Given the description of an element on the screen output the (x, y) to click on. 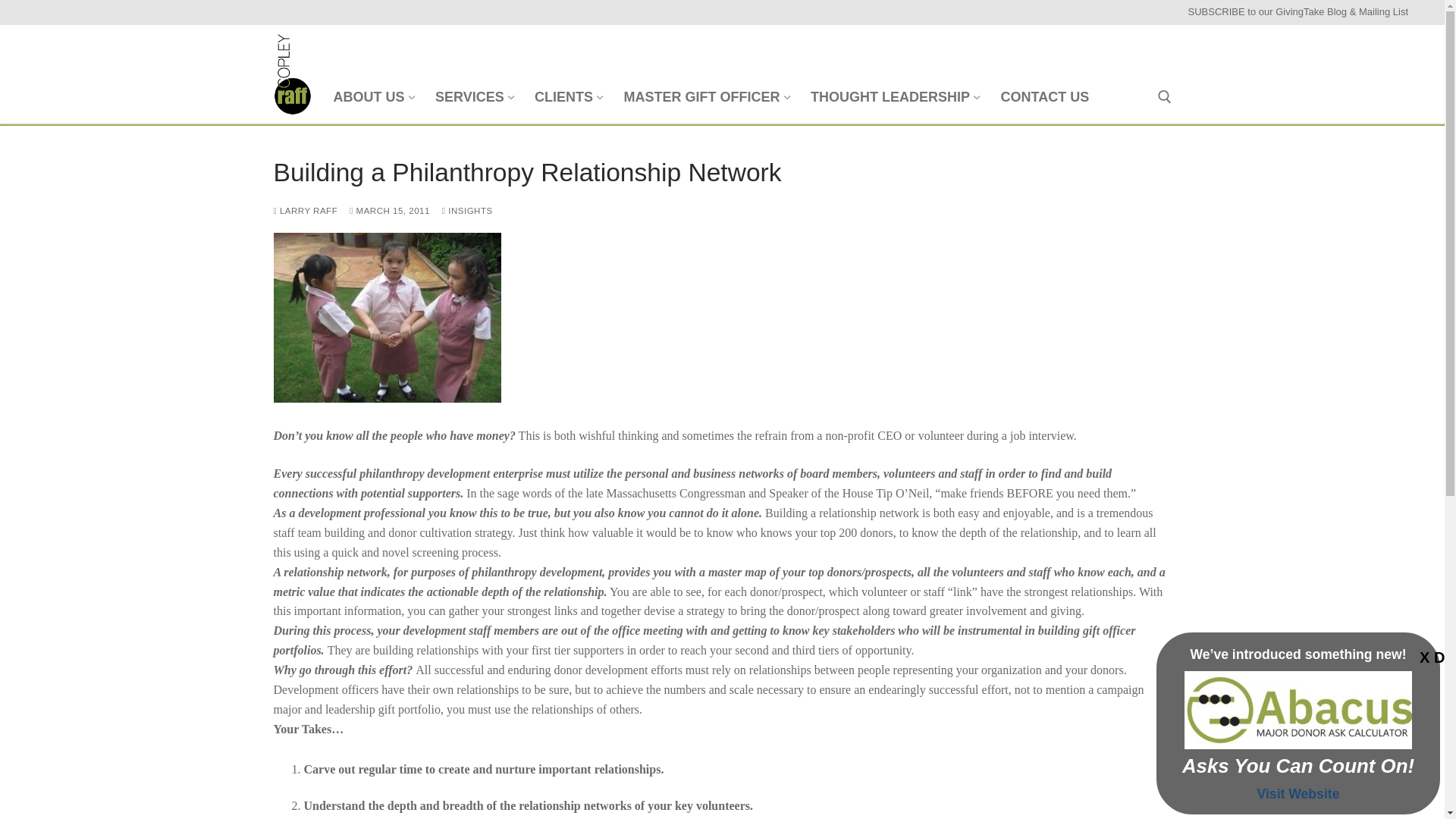
CONTACT US (473, 97)
